Given the description of an element on the screen output the (x, y) to click on. 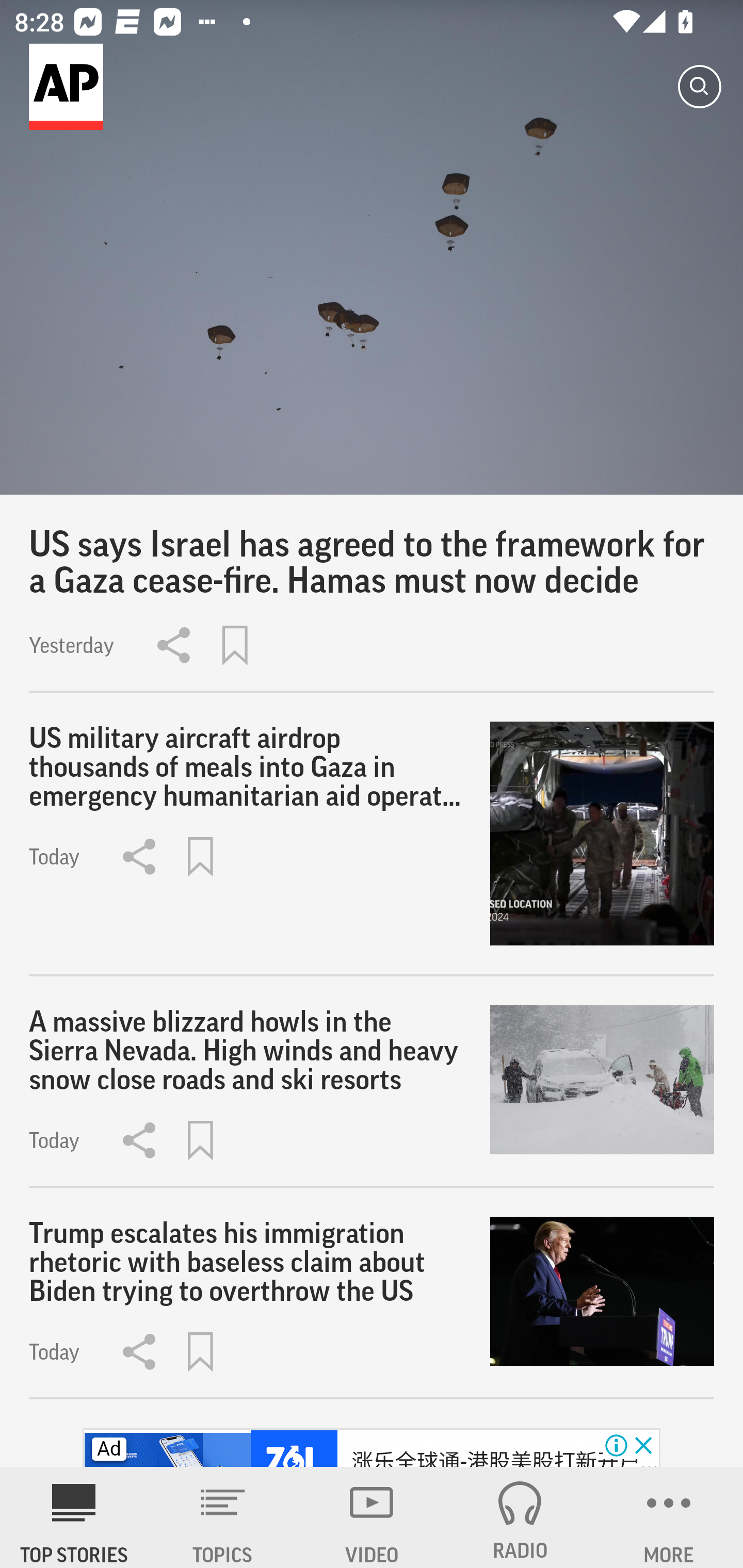
AP News TOP STORIES (74, 1517)
TOPICS (222, 1517)
VIDEO (371, 1517)
RADIO (519, 1517)
MORE (668, 1517)
